Given the description of an element on the screen output the (x, y) to click on. 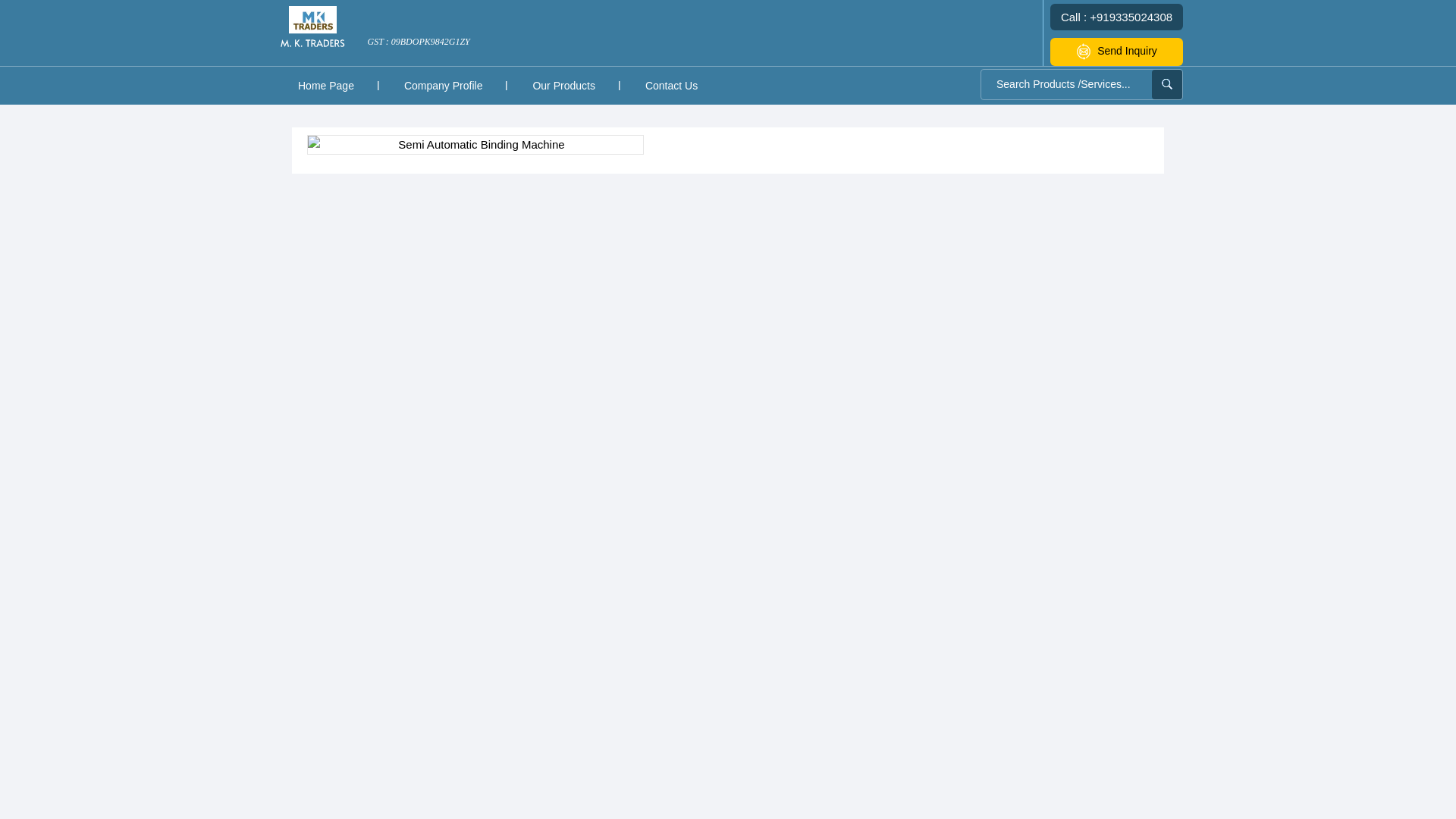
Home Page (325, 85)
Company Profile (443, 85)
GST : 09BDOPK9842G1ZY (419, 48)
Our Products (563, 85)
Send Inquiry (1115, 51)
submit (1166, 84)
